Given the description of an element on the screen output the (x, y) to click on. 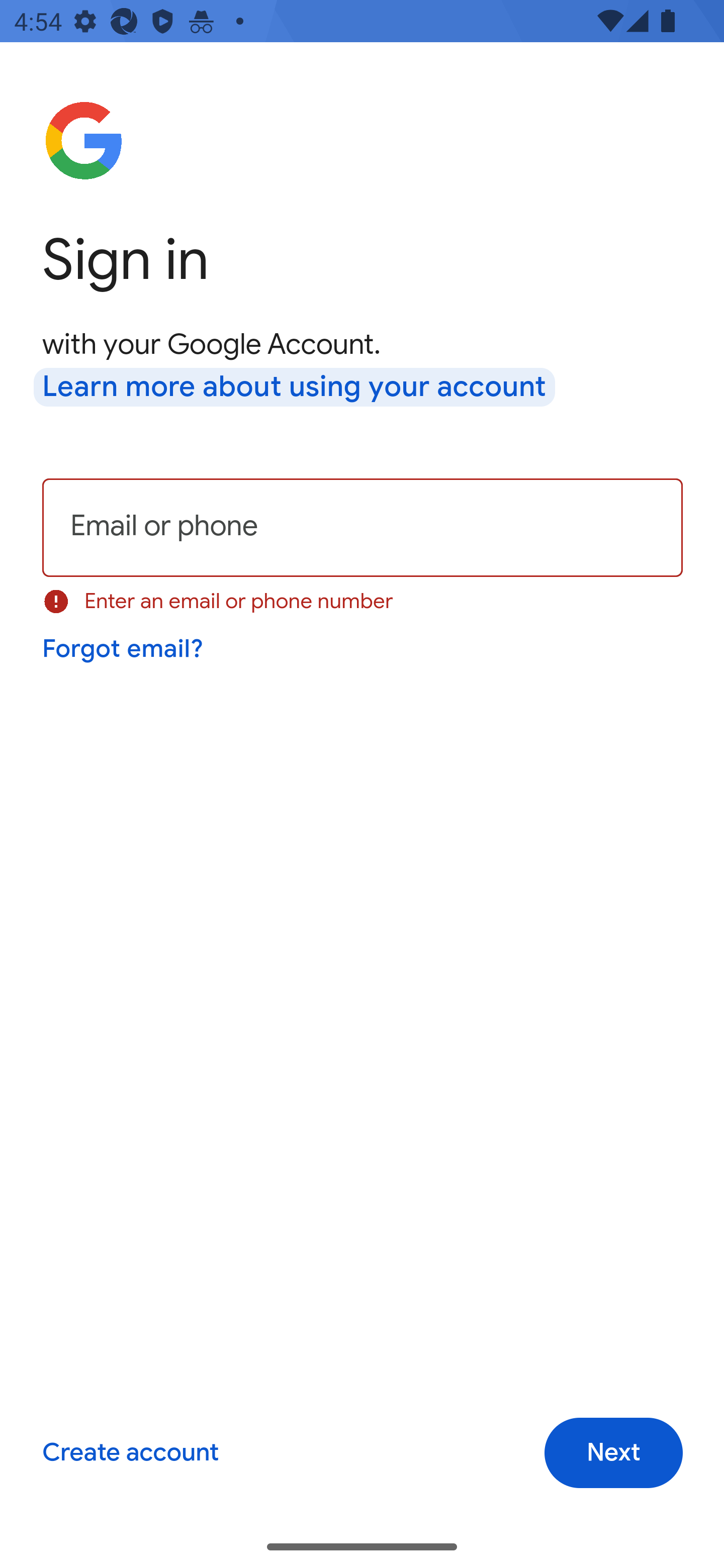
Learn more about using your account (294, 388)
Forgot email? (123, 648)
Create account (129, 1453)
Next (613, 1453)
